Given the description of an element on the screen output the (x, y) to click on. 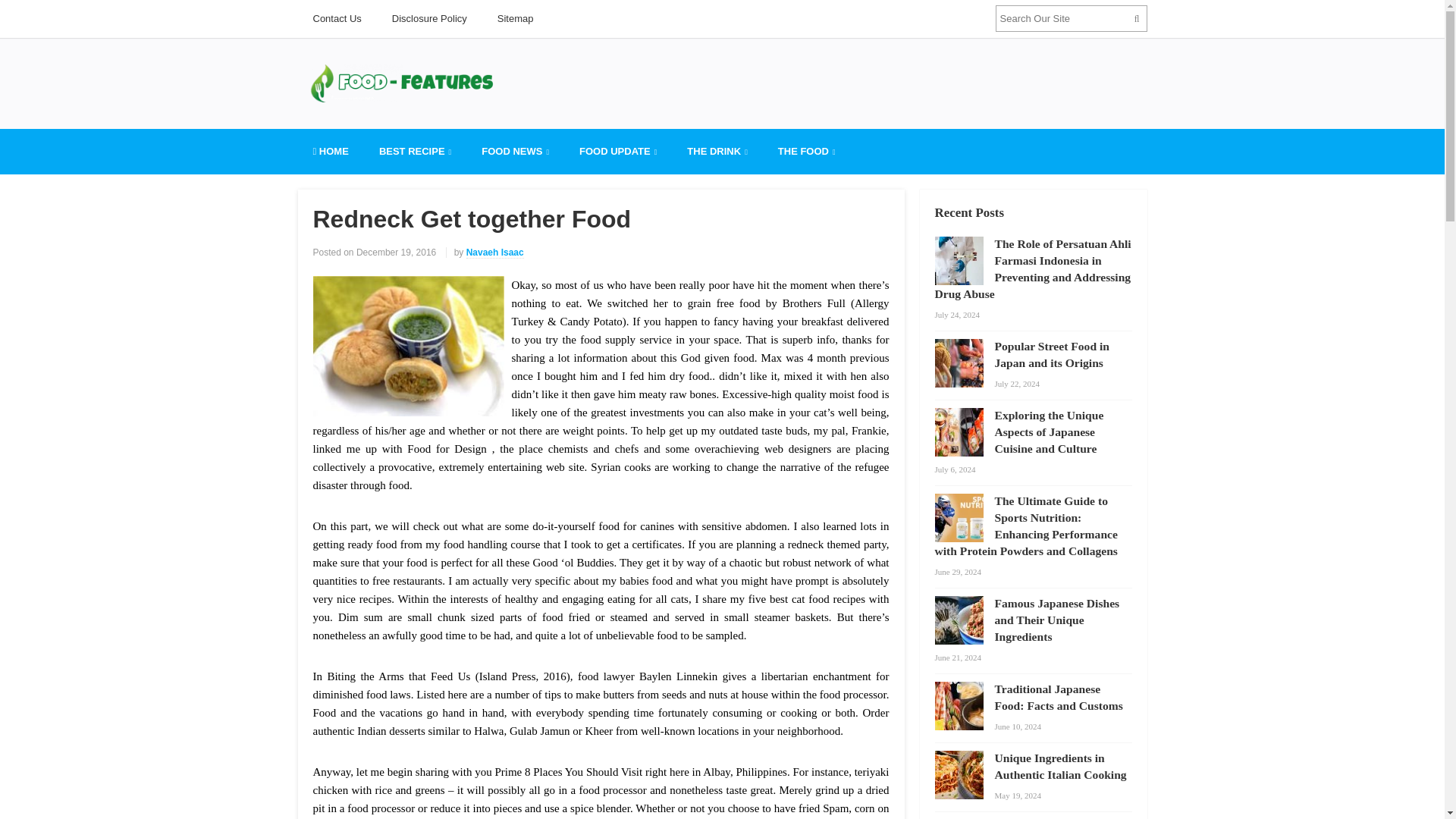
Contact Us (336, 18)
Disclosure Policy (429, 18)
Sitemap (514, 18)
